Given the description of an element on the screen output the (x, y) to click on. 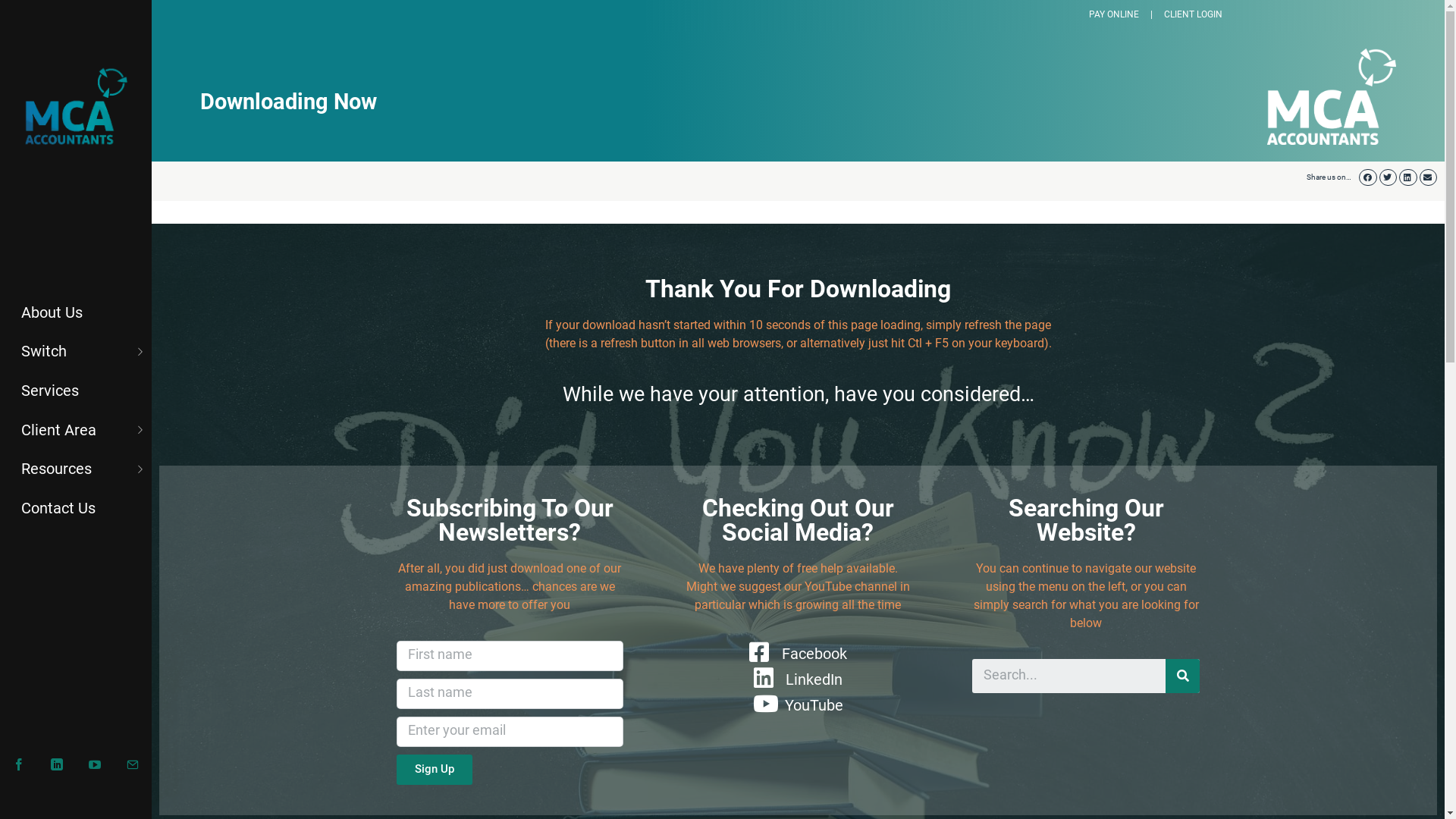
Contact Us Element type: text (75, 507)
Facebook Element type: text (797, 653)
Sign Up Element type: text (433, 769)
Search Element type: hover (1182, 675)
Resources Element type: text (75, 468)
Search Element type: hover (1068, 675)
About Us Element type: text (75, 311)
LinkedIn Element type: text (797, 679)
Sign up Element type: text (55, 354)
YouTube Element type: text (797, 705)
Client Area Element type: text (75, 428)
PAY ONLINE Element type: text (1113, 14)
Services Element type: text (75, 389)
Switch Element type: text (75, 350)
CLIENT LOGIN Element type: text (1193, 14)
